Given the description of an element on the screen output the (x, y) to click on. 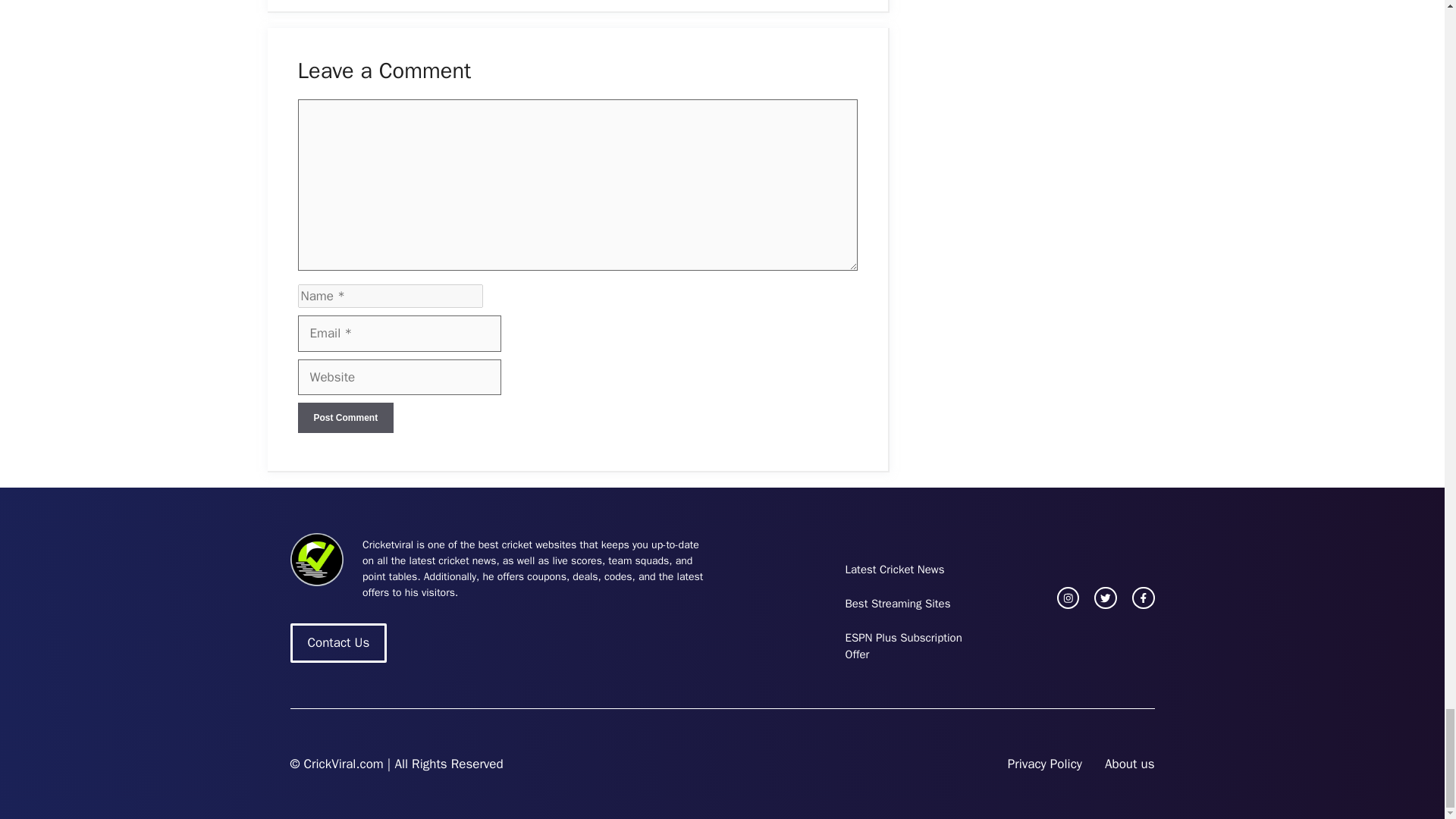
Post Comment (345, 417)
